Given the description of an element on the screen output the (x, y) to click on. 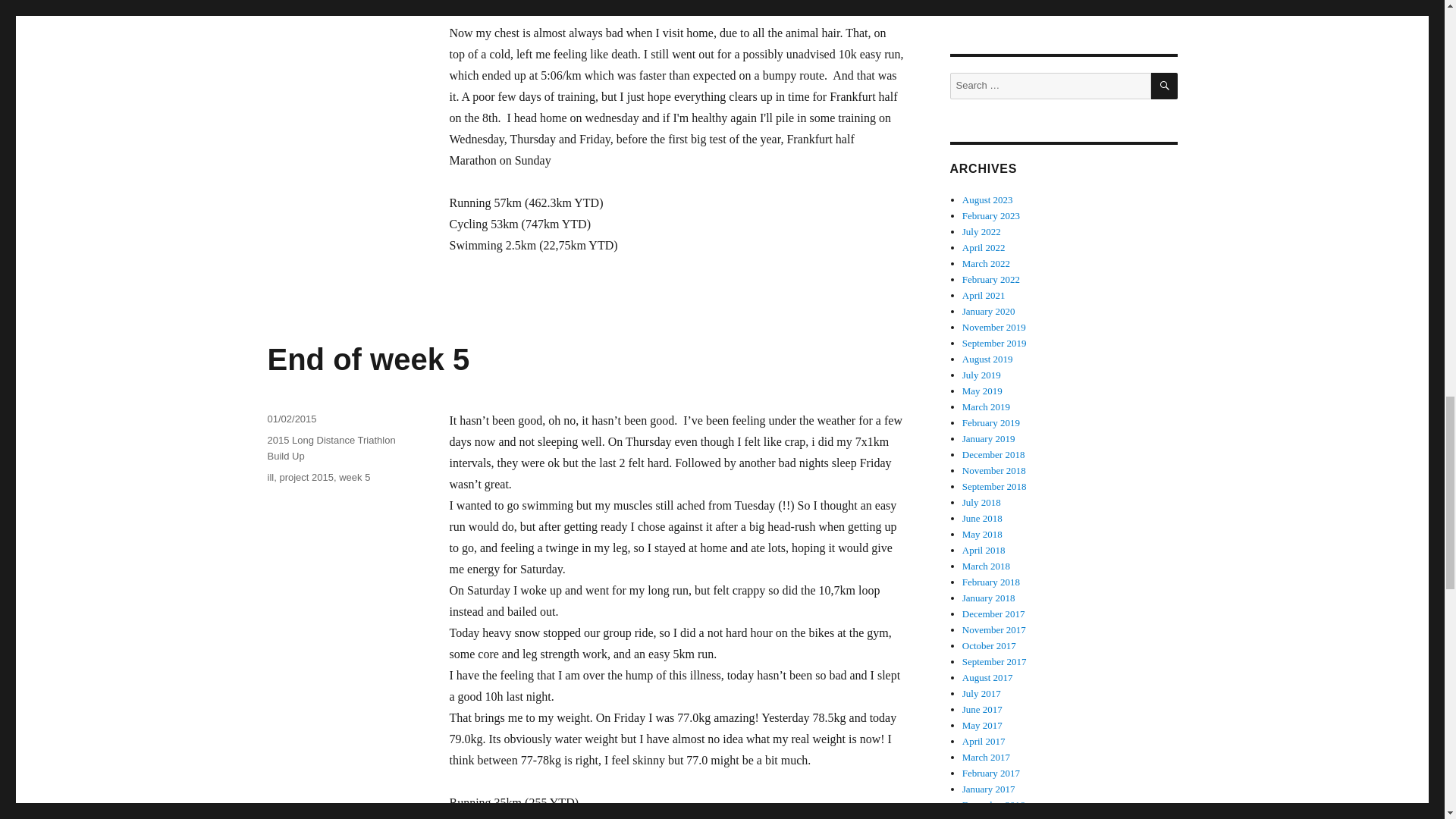
project 2015 (306, 477)
End of week 5 (367, 359)
week 5 (354, 477)
2015 Long Distance Triathlon Build Up (330, 447)
